Given the description of an element on the screen output the (x, y) to click on. 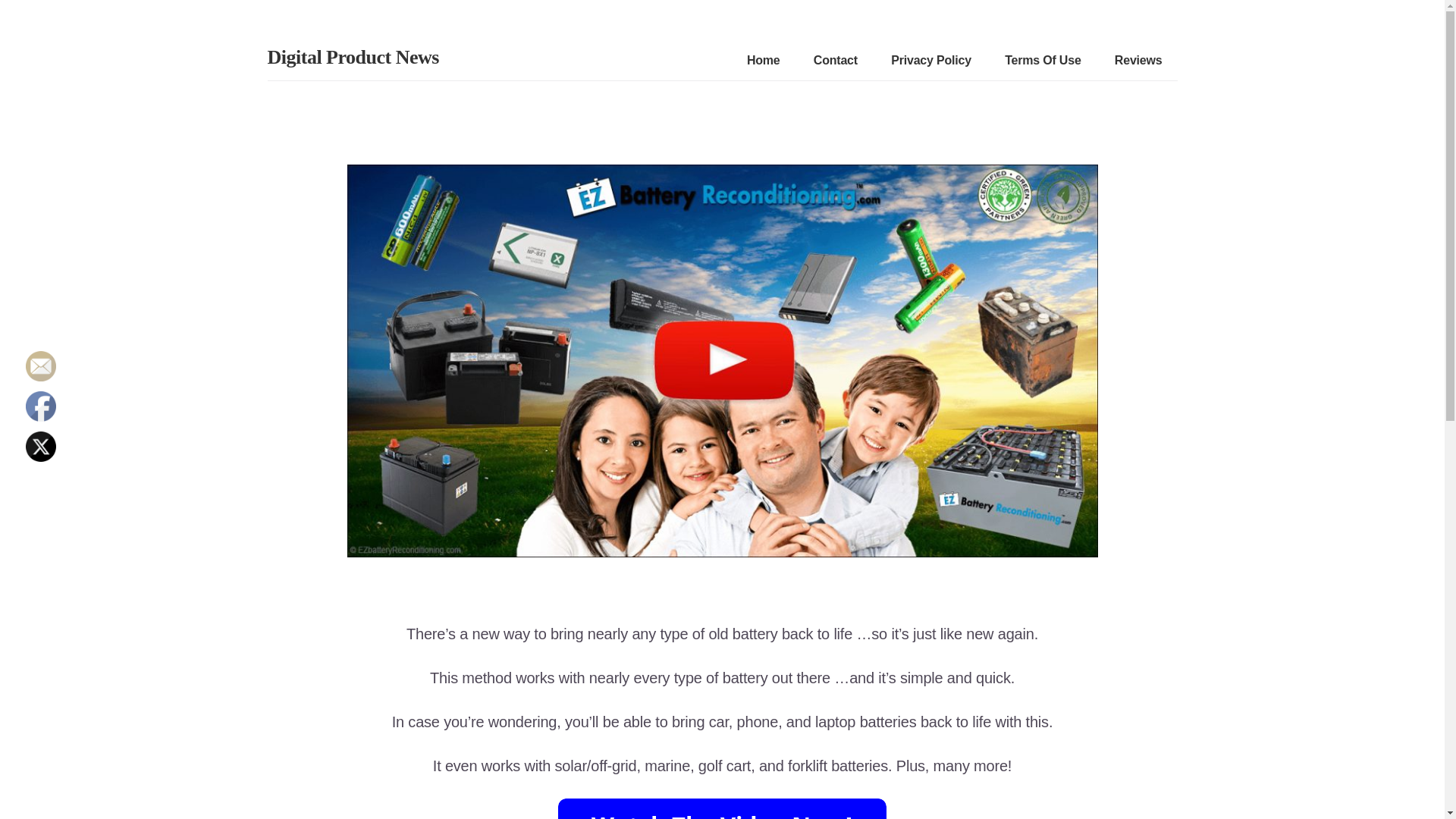
Privacy Policy (931, 61)
Terms Of Use (1042, 61)
Home (763, 61)
Follow by Email (41, 366)
Facebook (41, 406)
Contact (835, 61)
Twitter (41, 446)
Reviews (1139, 61)
Digital Product News (352, 56)
